Given the description of an element on the screen output the (x, y) to click on. 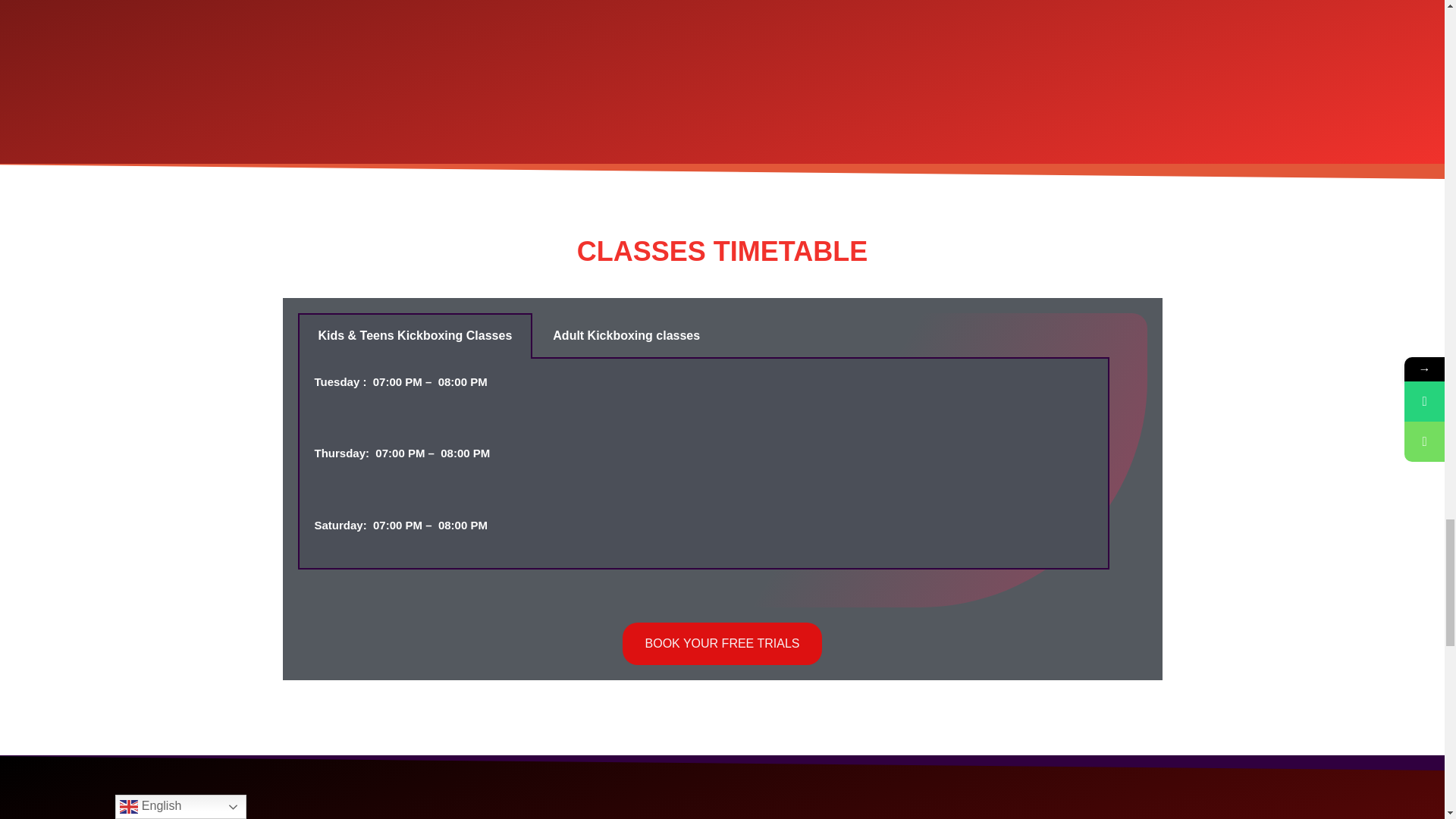
BOOK YOUR FREE TRIALS (722, 643)
